Given the description of an element on the screen output the (x, y) to click on. 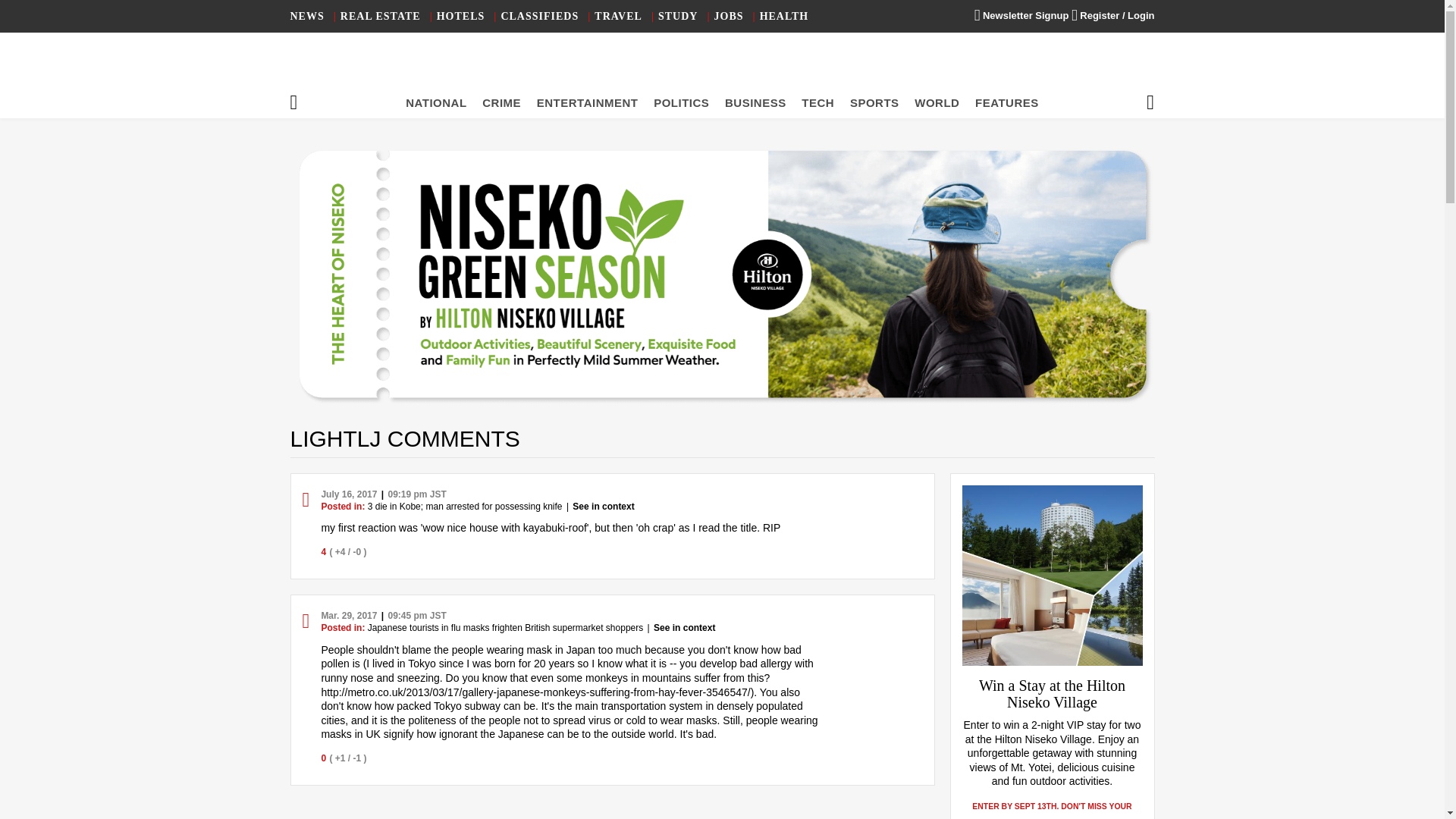
NEWS (306, 16)
STUDY (677, 16)
SPORTS (874, 102)
BUSINESS (755, 102)
TECH (818, 102)
Newsletter Signup (1021, 15)
Japan Today (721, 67)
CLASSIFIEDS (539, 16)
HOTELS (460, 16)
TRAVEL (618, 16)
